Given the description of an element on the screen output the (x, y) to click on. 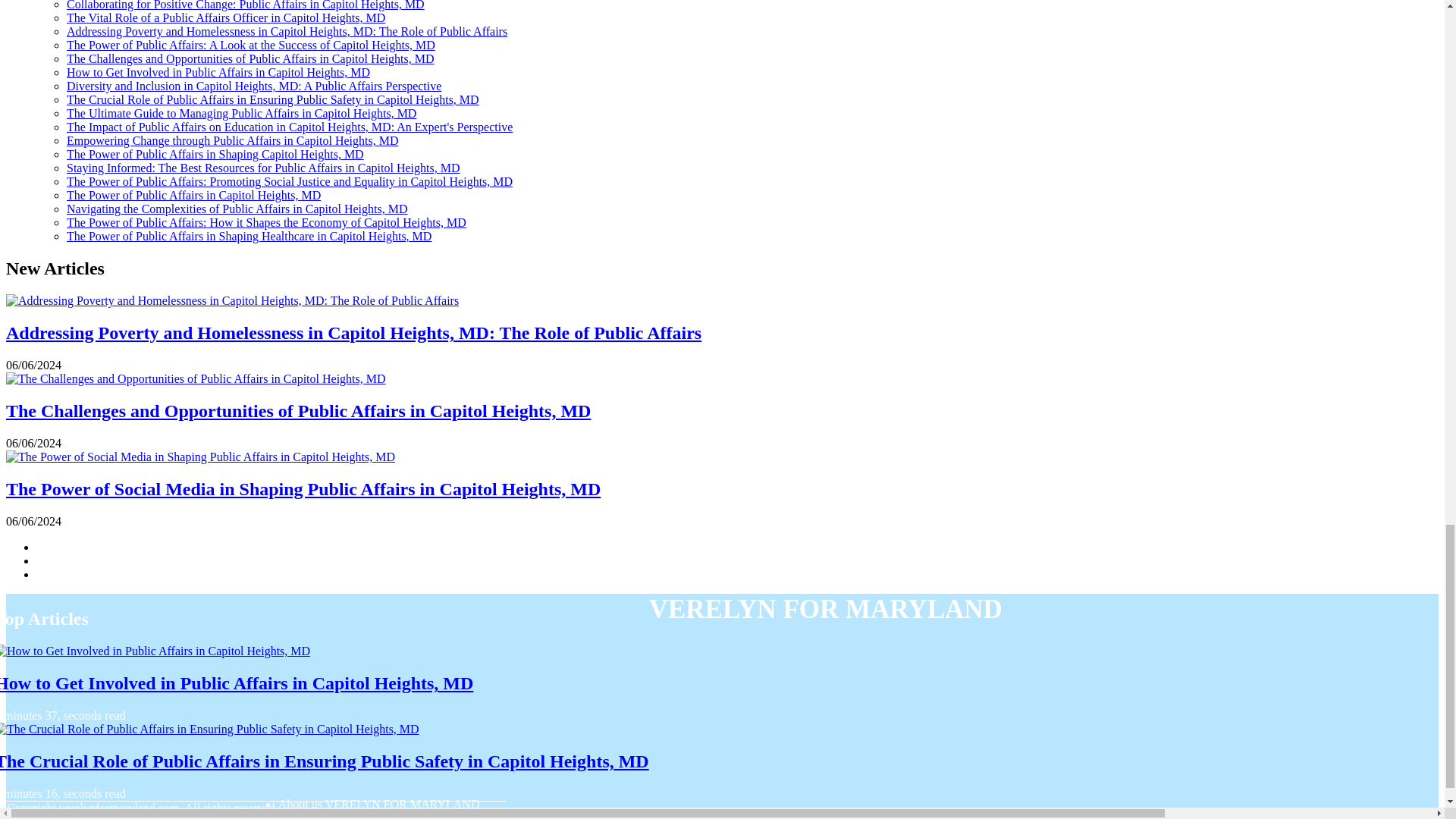
The Power of Public Affairs in Shaping Capitol Heights, MD (215, 154)
How to Get Involved in Public Affairs in Capitol Heights, MD (217, 72)
